Given the description of an element on the screen output the (x, y) to click on. 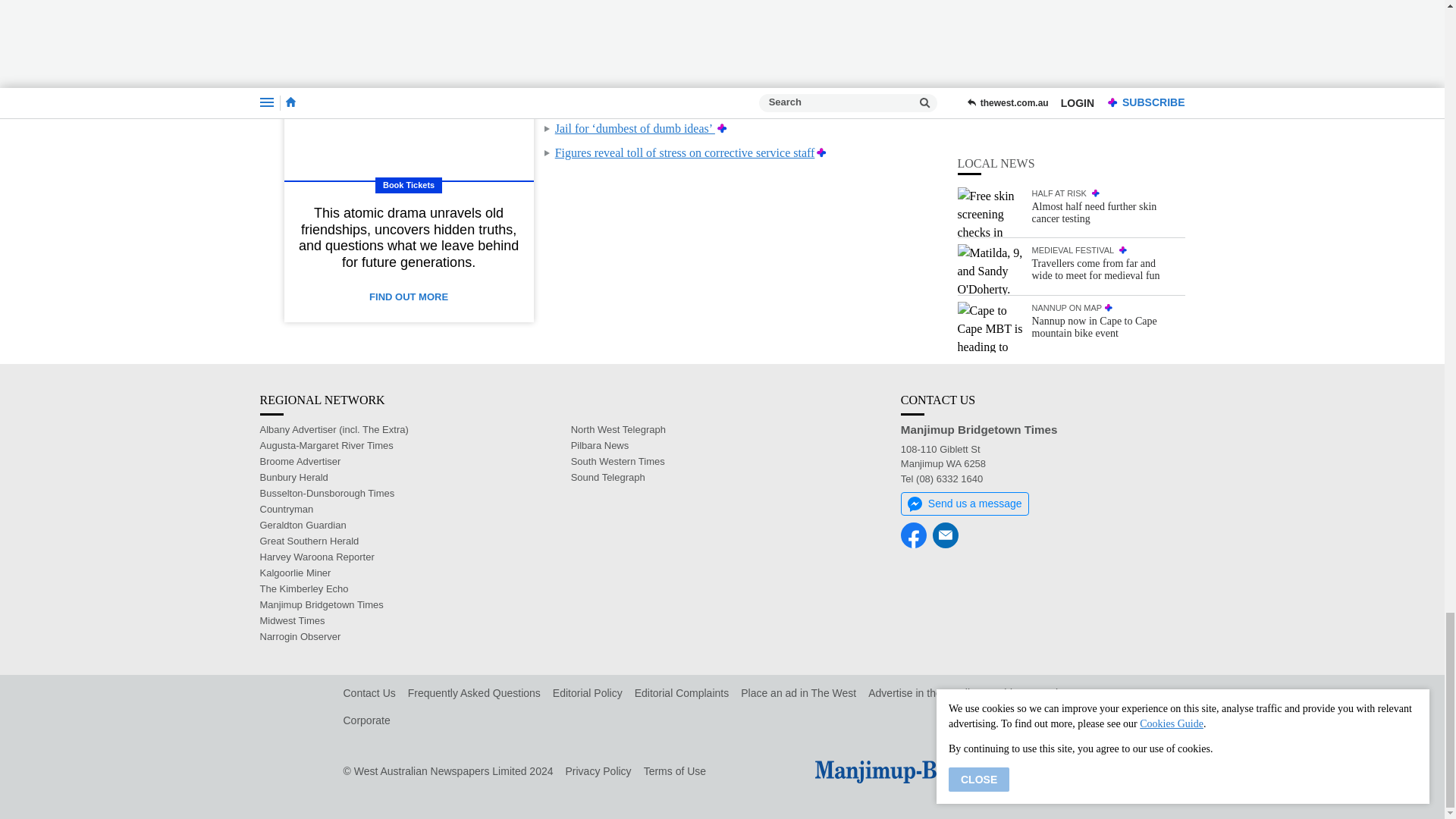
Premium (844, 55)
Premium (844, 79)
Premium (735, 31)
Premium (722, 128)
Premium (822, 103)
Premium (821, 152)
